Given the description of an element on the screen output the (x, y) to click on. 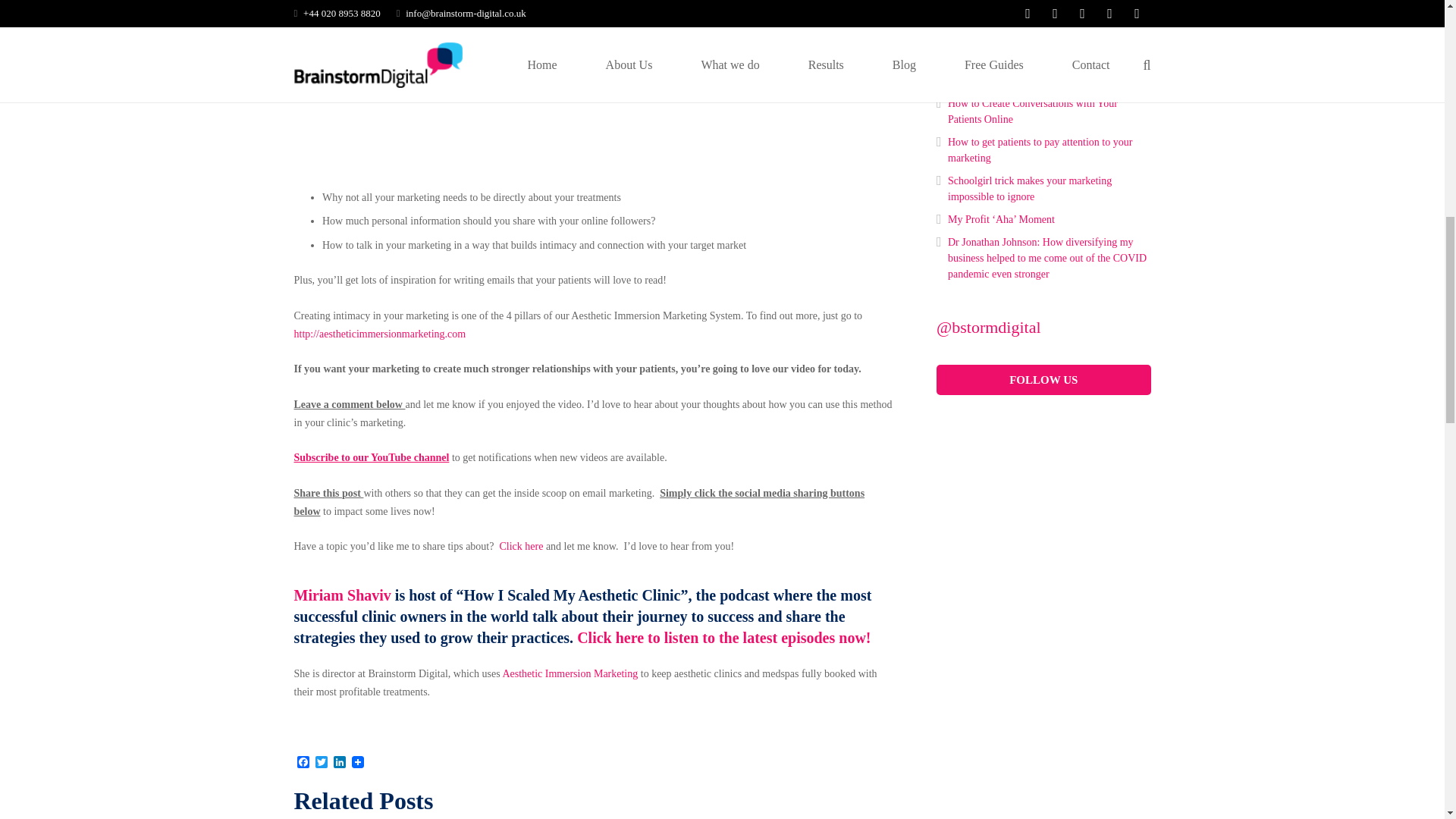
Back to top (1413, 26)
Twitter (321, 762)
Subscribe to our YouTube channel  (372, 457)
Click here (521, 546)
Facebook (303, 762)
LinkedIn (339, 762)
YouTube video player (506, 82)
